Given the description of an element on the screen output the (x, y) to click on. 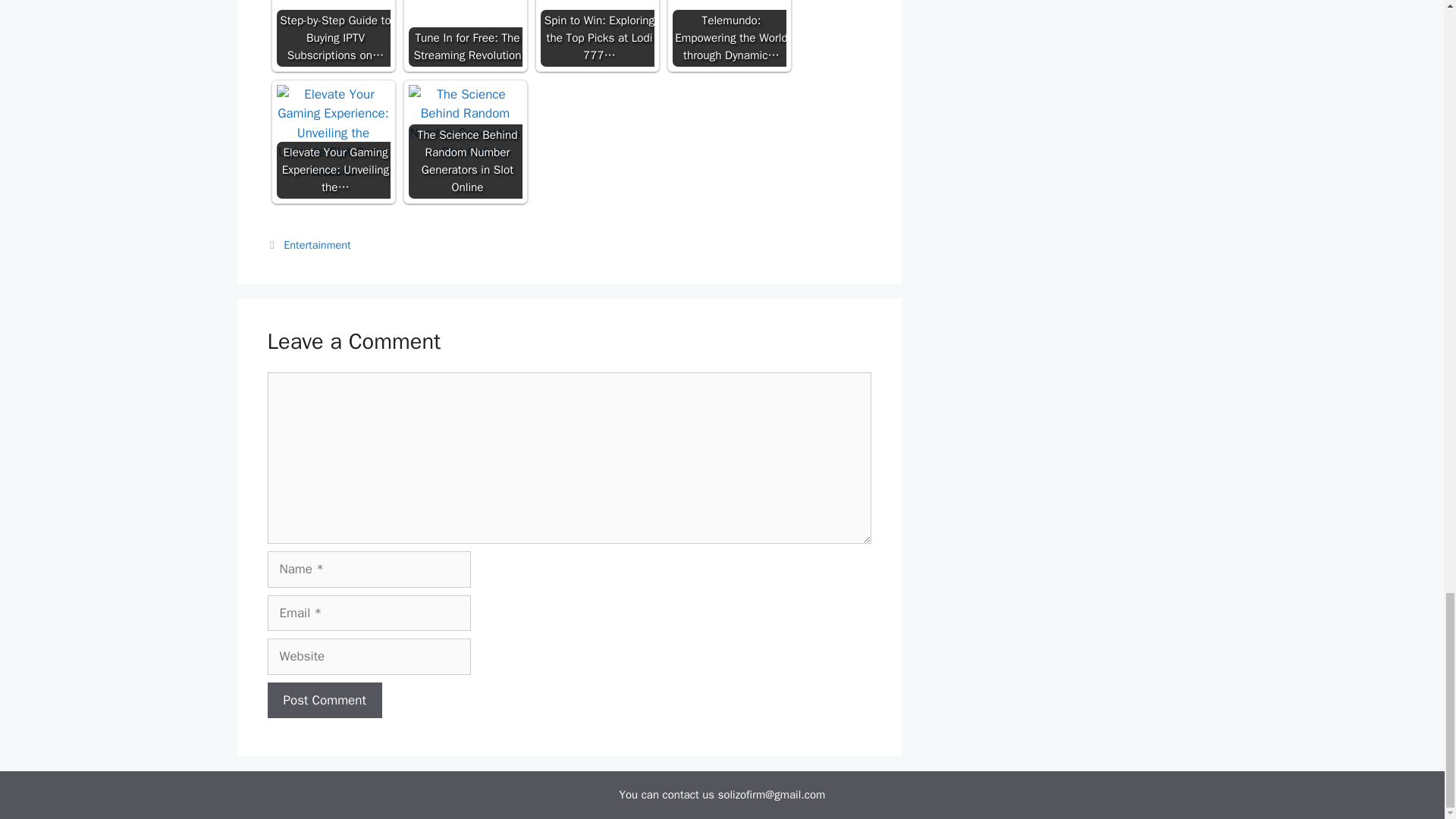
The Science Behind Random Number Generators in Slot Online (464, 123)
Post Comment (323, 700)
